Given the description of an element on the screen output the (x, y) to click on. 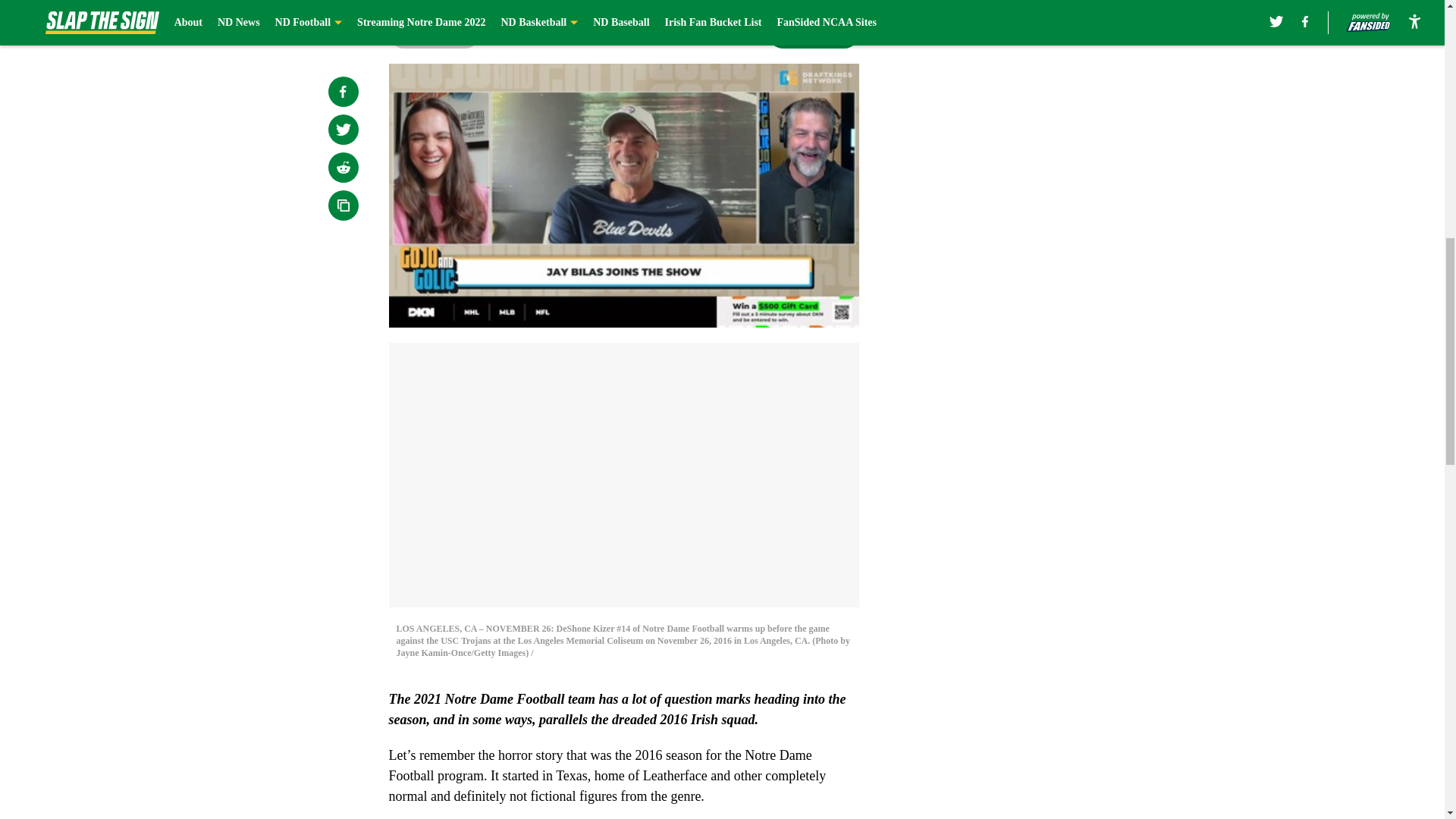
Prev (433, 33)
3rd party ad content (1047, 113)
Next (813, 33)
3rd party ad content (1047, 332)
